Given the description of an element on the screen output the (x, y) to click on. 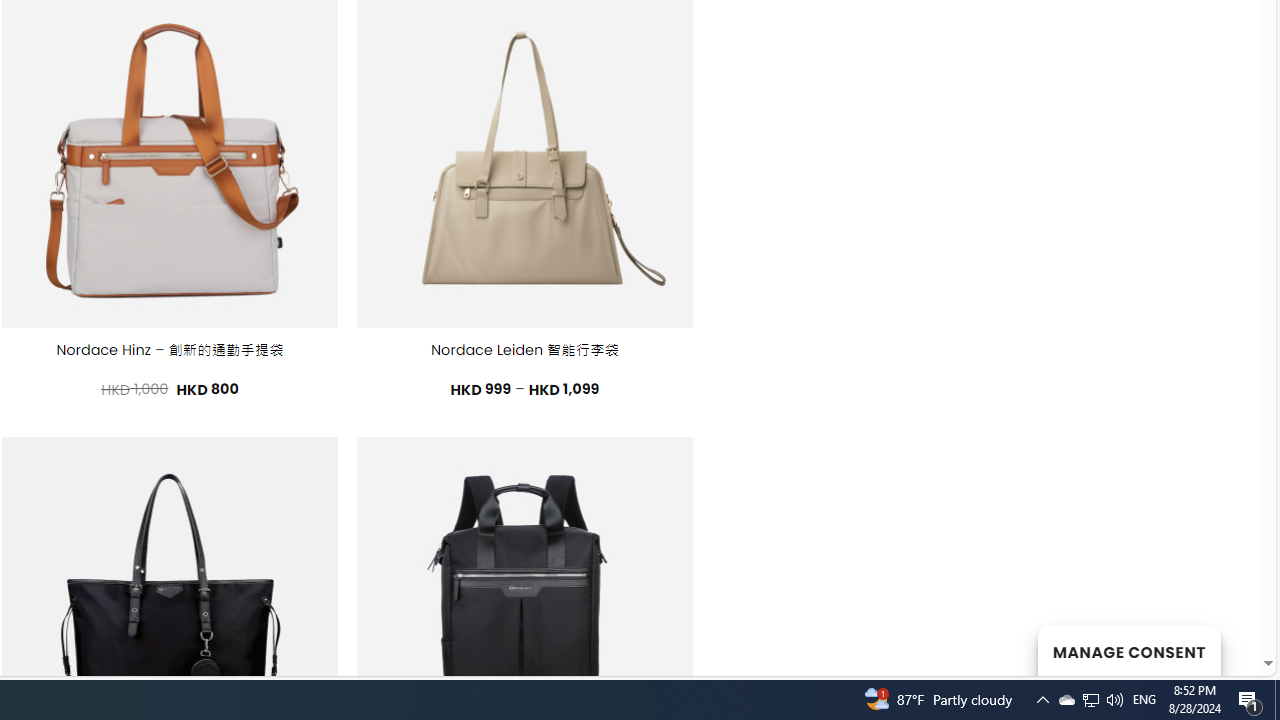
MANAGE CONSENT (1128, 650)
